Given the description of an element on the screen output the (x, y) to click on. 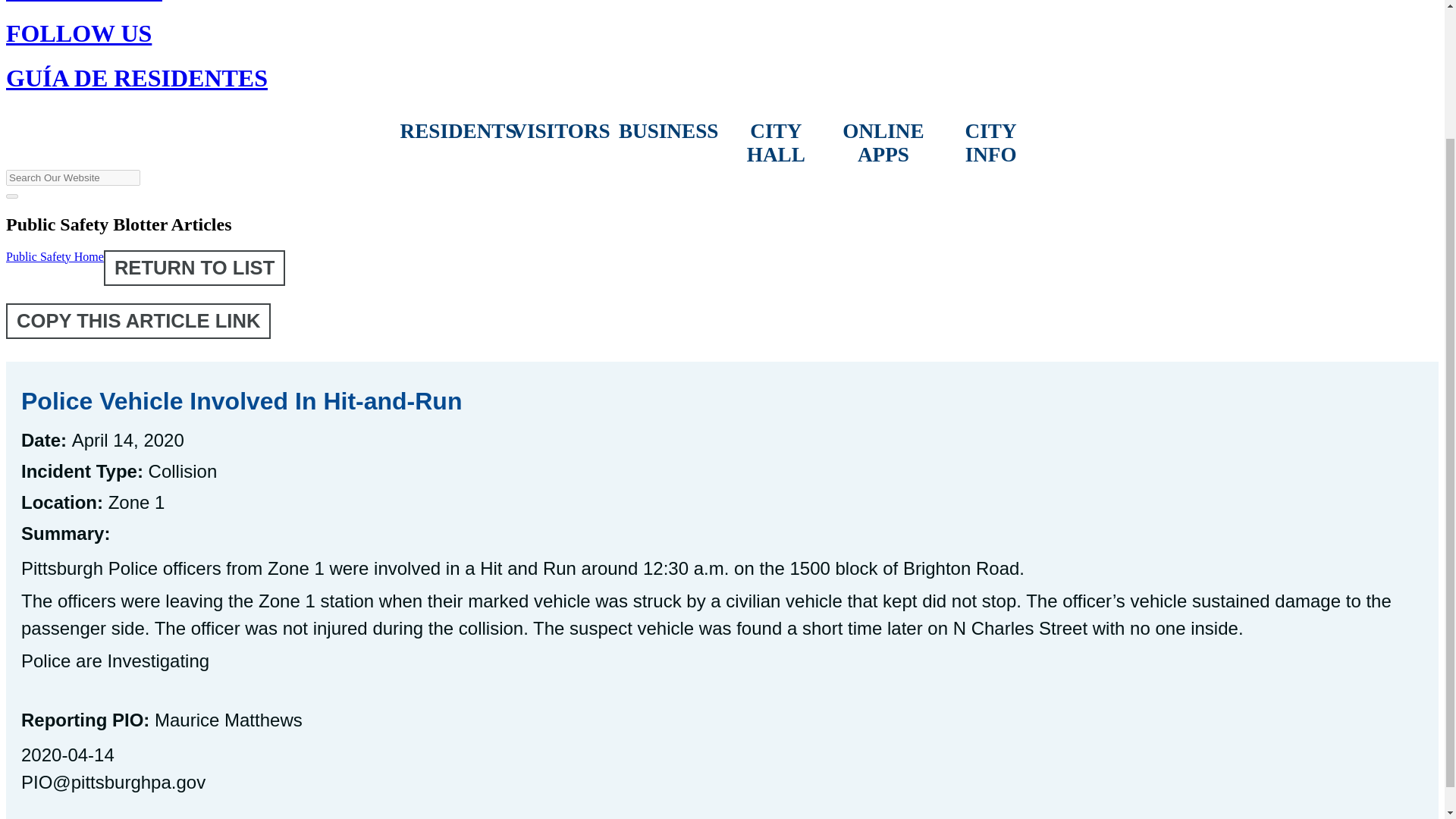
Residents (454, 131)
